Given the description of an element on the screen output the (x, y) to click on. 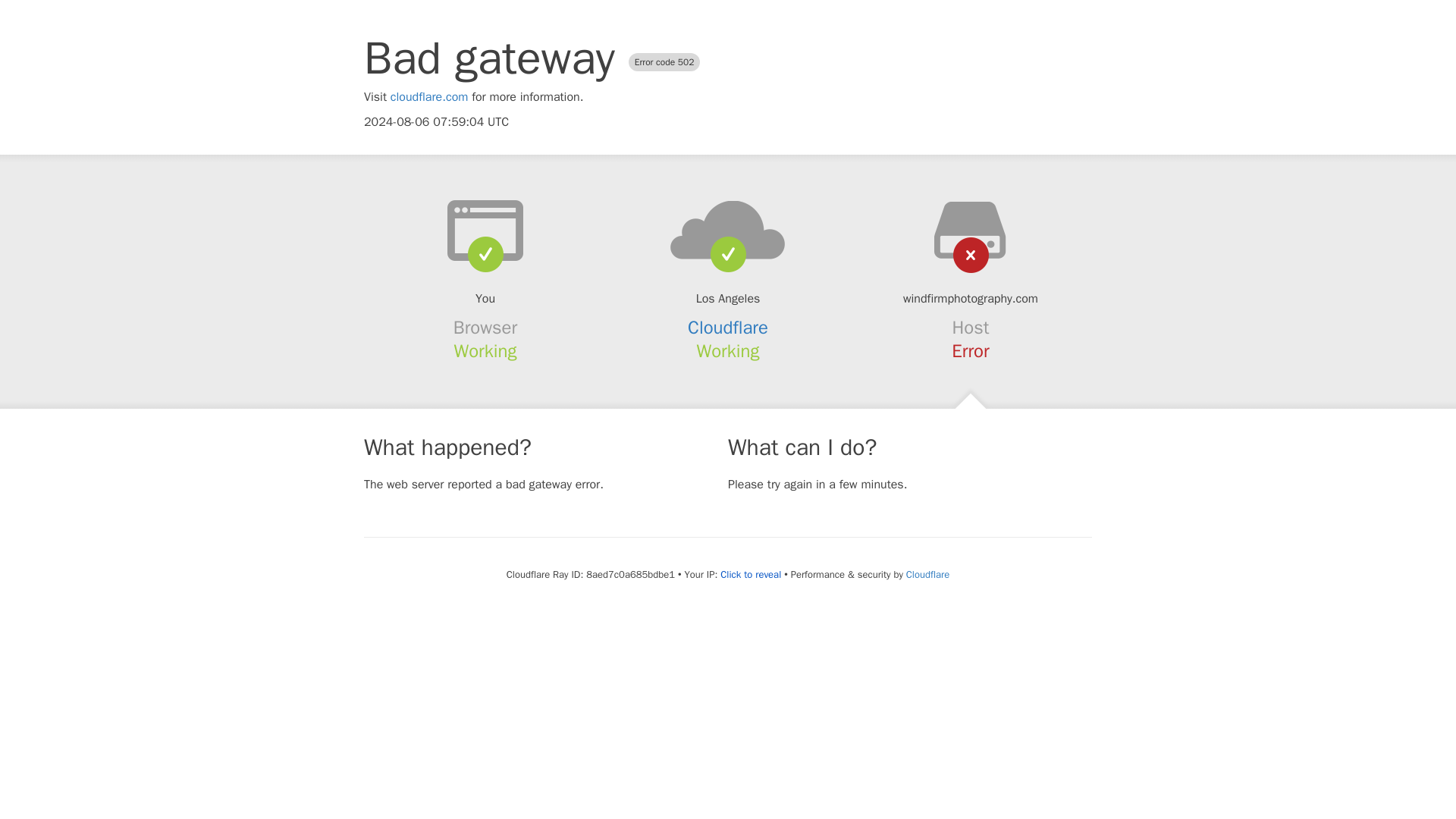
Cloudflare (927, 574)
Click to reveal (750, 574)
Cloudflare (727, 327)
cloudflare.com (429, 96)
